Given the description of an element on the screen output the (x, y) to click on. 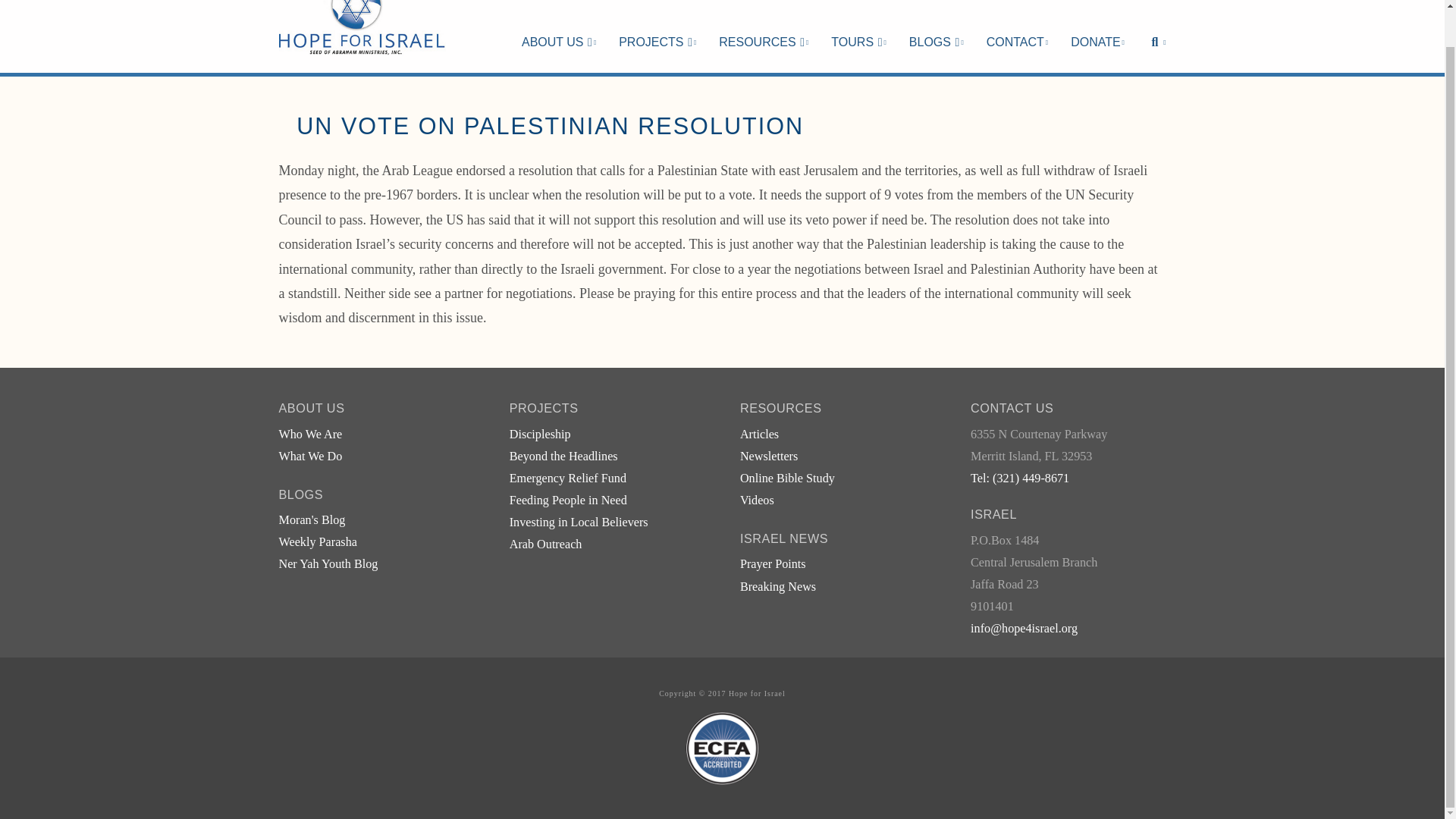
RESOURCES (763, 27)
DONATE (1097, 27)
ABOUT US (559, 27)
TOURS (857, 27)
CONTACT (1017, 27)
PROJECTS (657, 27)
BLOGS (936, 27)
